Given the description of an element on the screen output the (x, y) to click on. 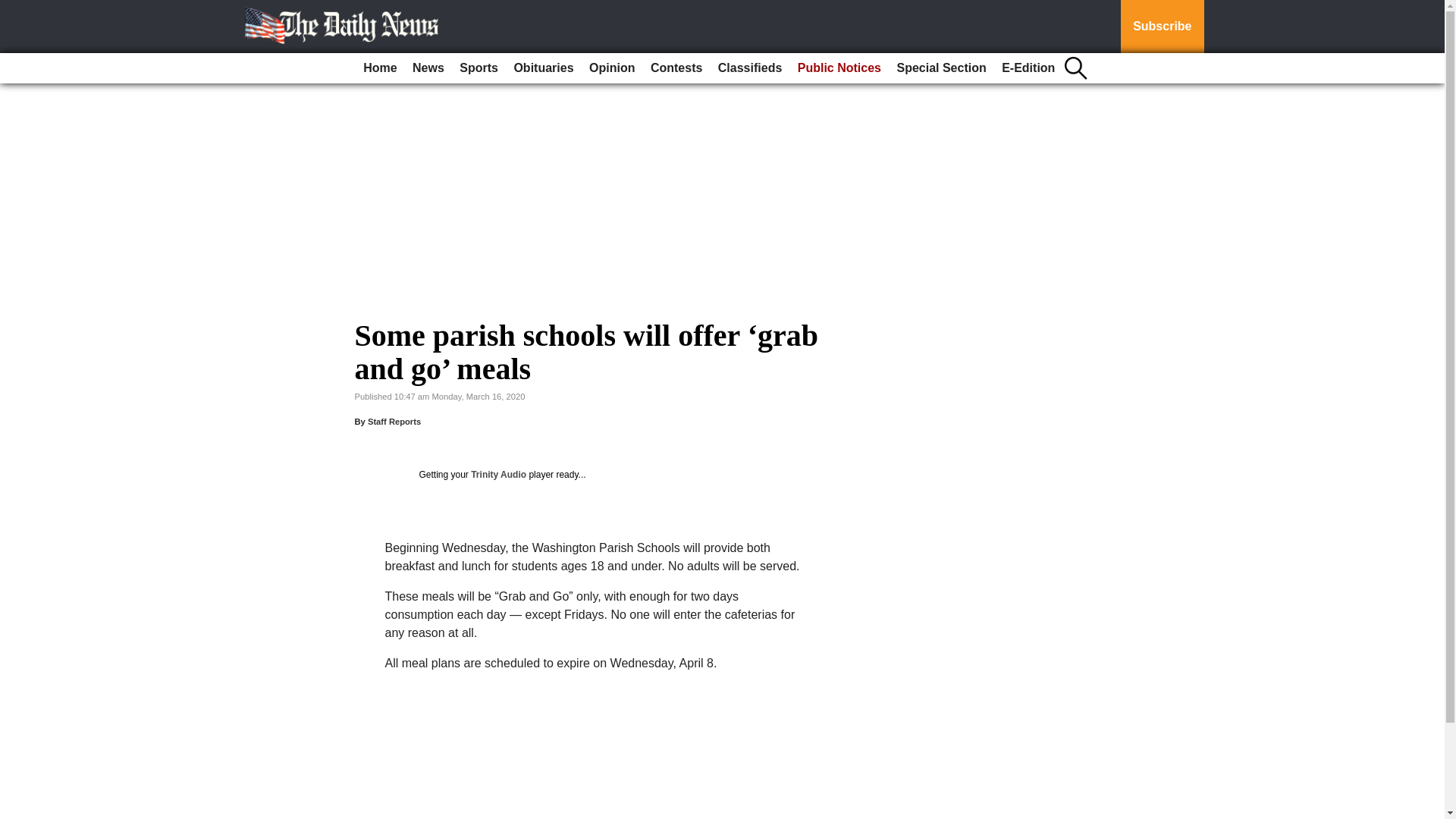
Opinion (611, 68)
Sports (477, 68)
Go (13, 9)
Special Section (940, 68)
News (427, 68)
Staff Reports (394, 420)
Public Notices (839, 68)
Subscribe (1162, 26)
Classifieds (749, 68)
Obituaries (542, 68)
